Given the description of an element on the screen output the (x, y) to click on. 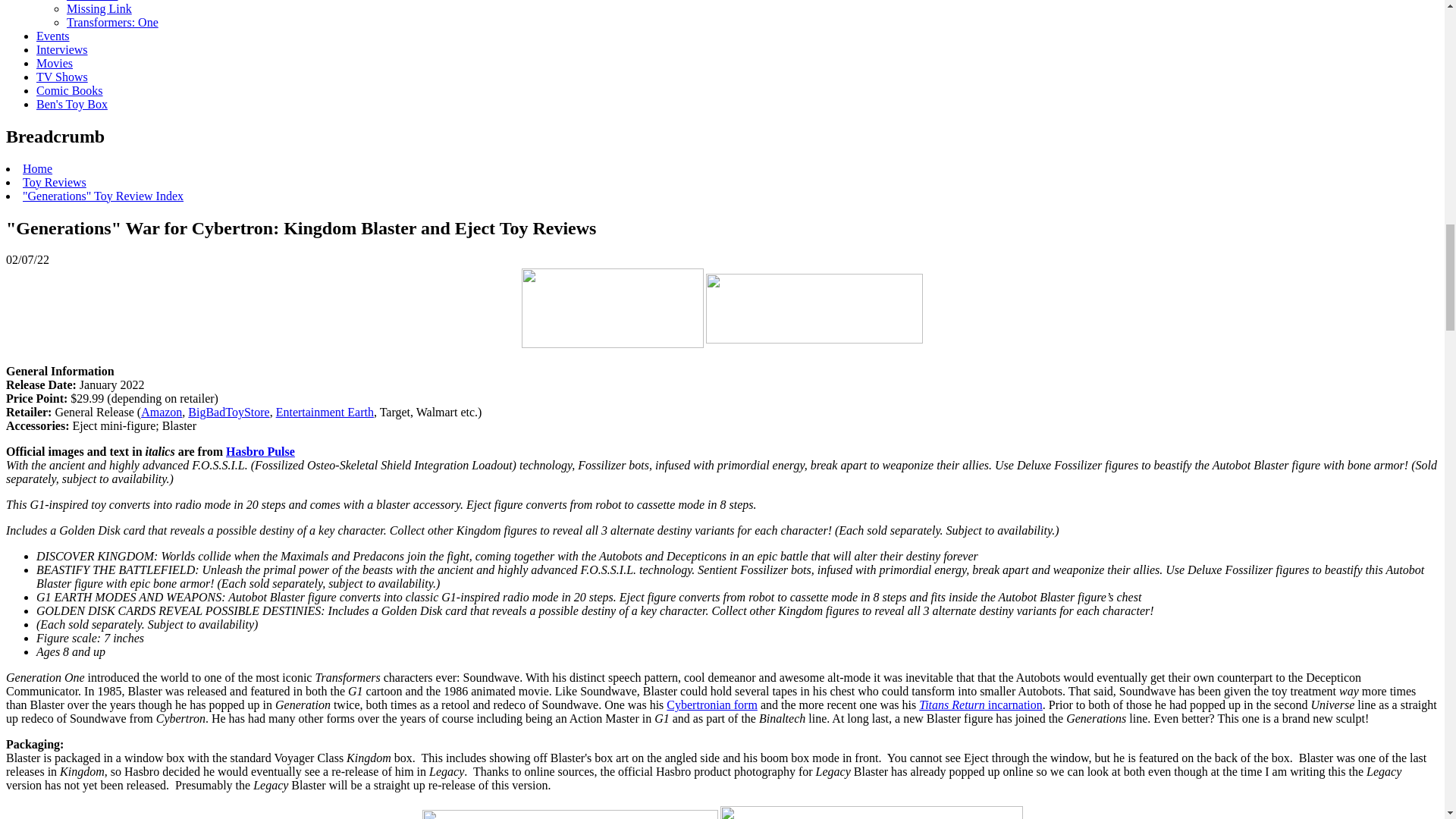
"Reactivate" Toy Review Index (91, 0)
Event coverage including Comic-Con and Toy Fair (52, 35)
